Given the description of an element on the screen output the (x, y) to click on. 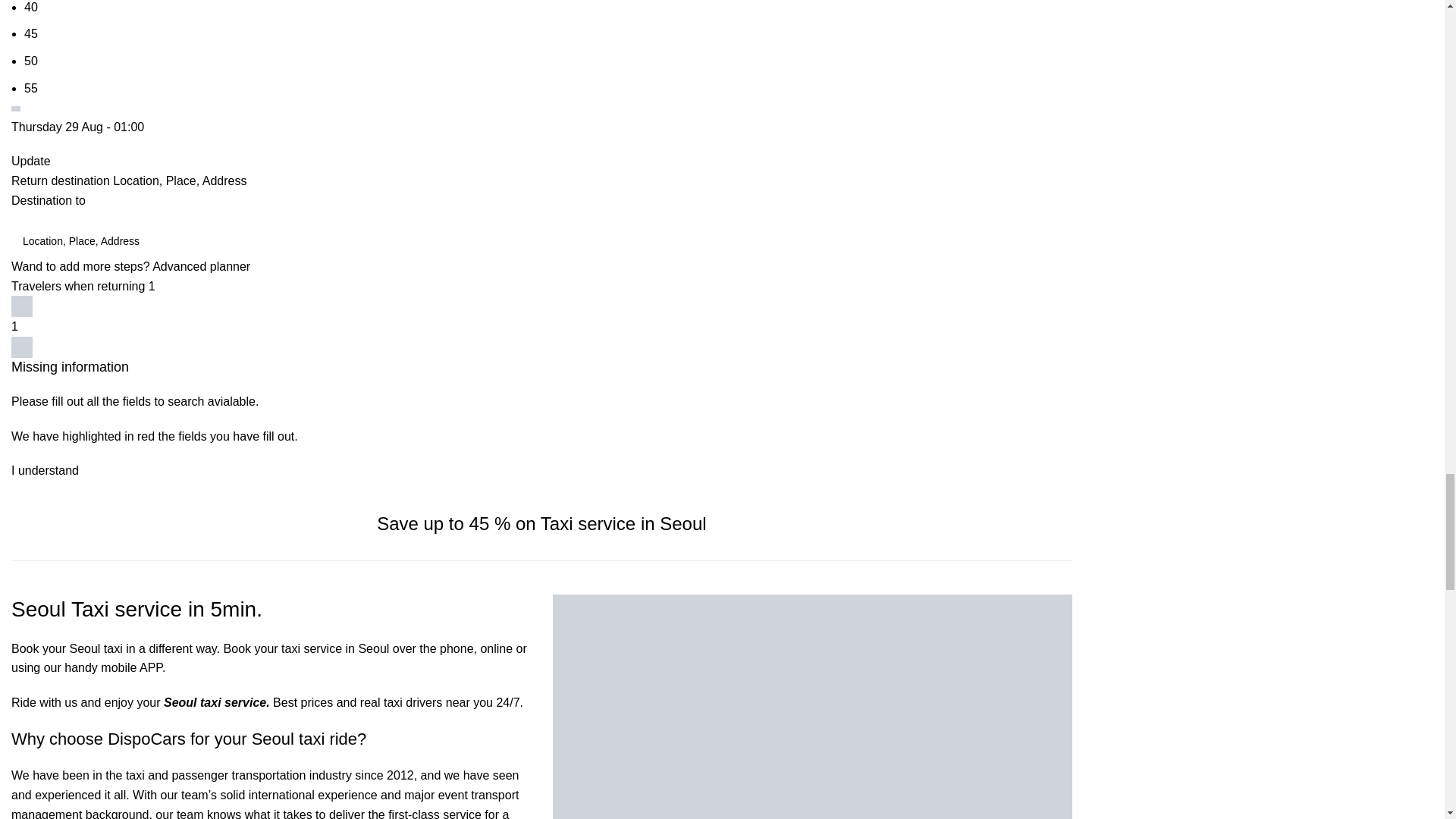
I understand (44, 470)
Advanced planner (201, 266)
Female tourist arrived at home (812, 706)
